Given the description of an element on the screen output the (x, y) to click on. 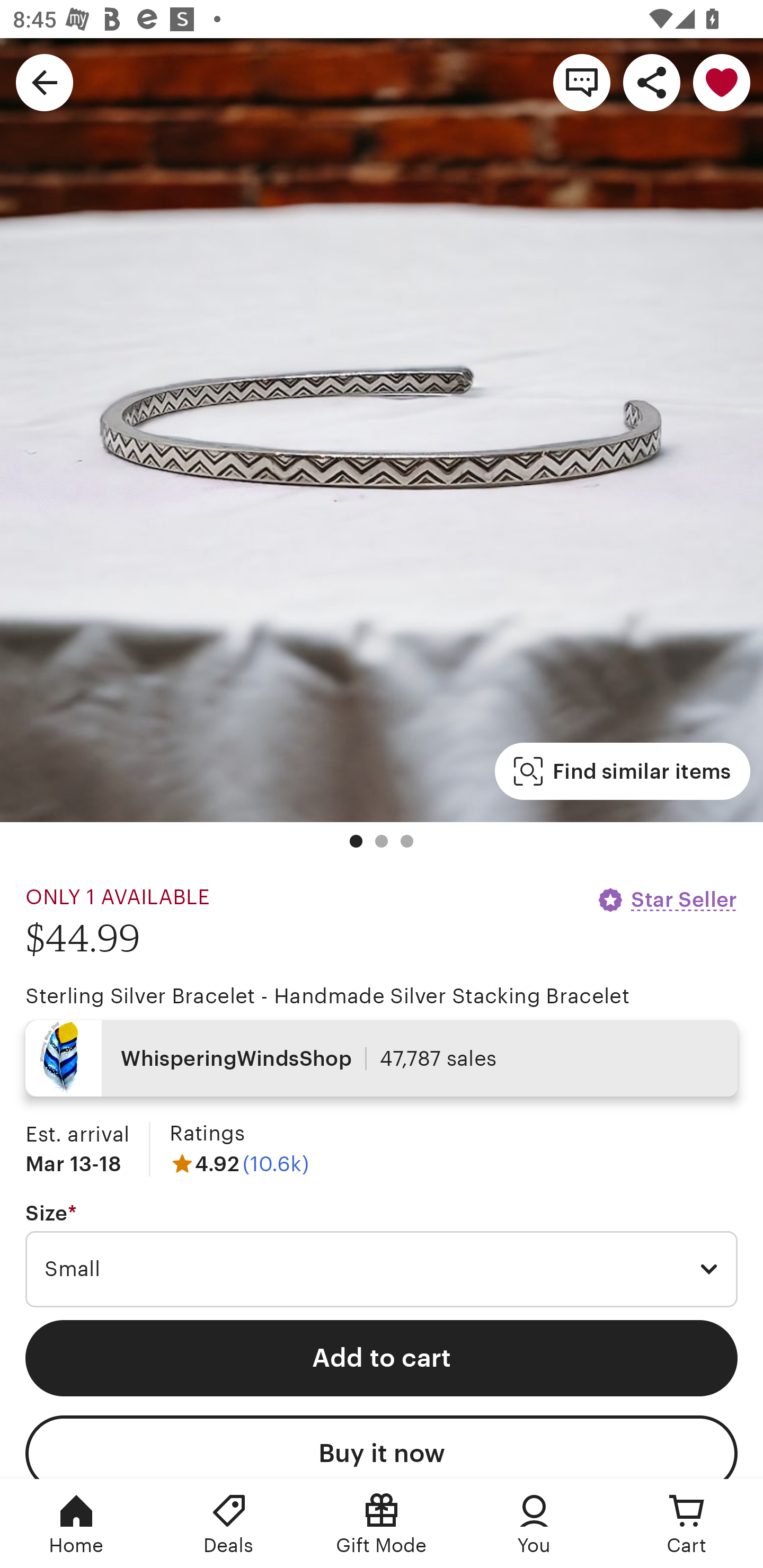
Navigate up (44, 81)
Contact shop (581, 81)
Share (651, 81)
Find similar items (622, 771)
Star Seller (666, 899)
WhisperingWindsShop 47,787 sales (381, 1058)
Ratings (206, 1133)
4.92 (10.6k) (239, 1163)
Size * Required Small (381, 1254)
Small (381, 1268)
Add to cart (381, 1358)
Buy it now (381, 1446)
Deals (228, 1523)
Gift Mode (381, 1523)
You (533, 1523)
Cart (686, 1523)
